Given the description of an element on the screen output the (x, y) to click on. 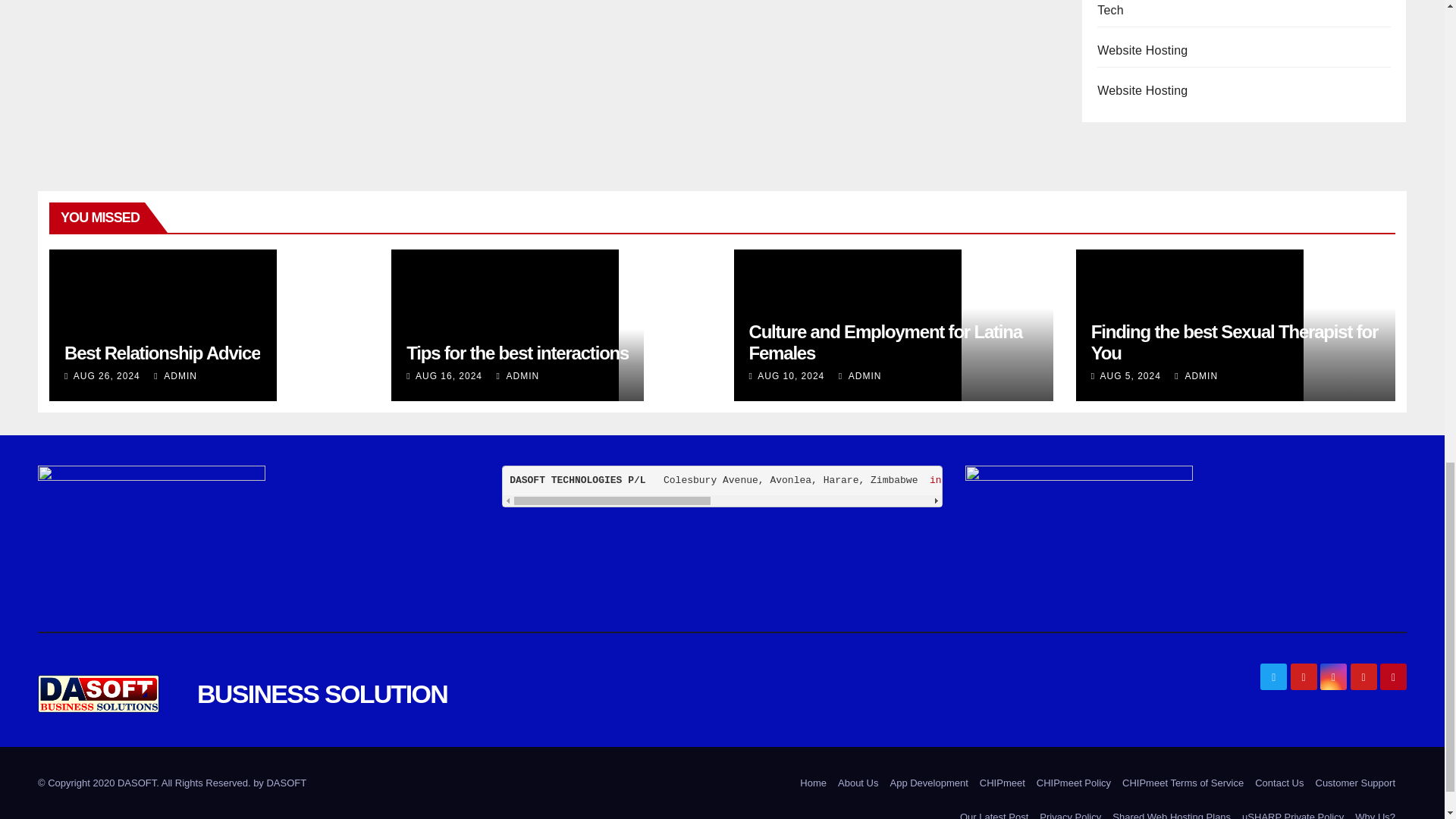
Permalink to: Best Relationship Advice (162, 353)
Permalink to: Finding the best Sexual Therapist for You (1233, 342)
Permalink to: Tips for the best interactions (517, 353)
Home (813, 782)
Permalink to: Culture and Employment for Latina Females (885, 342)
